Given the description of an element on the screen output the (x, y) to click on. 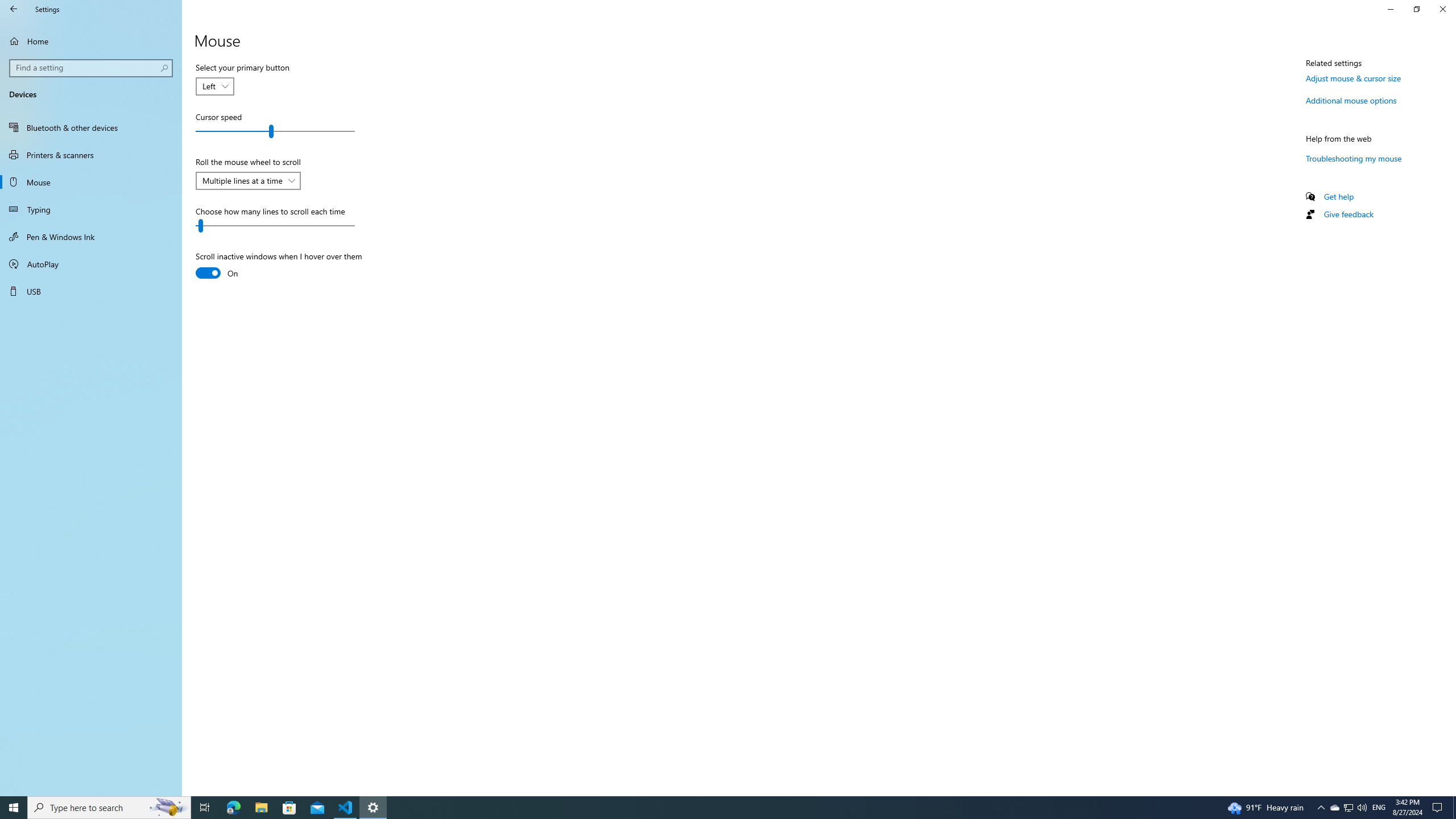
Left (208, 86)
Multiple lines at a time (242, 180)
Additional mouse options (1351, 100)
Home (91, 40)
Restore Settings (1416, 9)
Pen & Windows Ink (91, 236)
Cursor speed (275, 131)
Get help (1338, 196)
Mouse (91, 181)
Typing (91, 208)
